Given the description of an element on the screen output the (x, y) to click on. 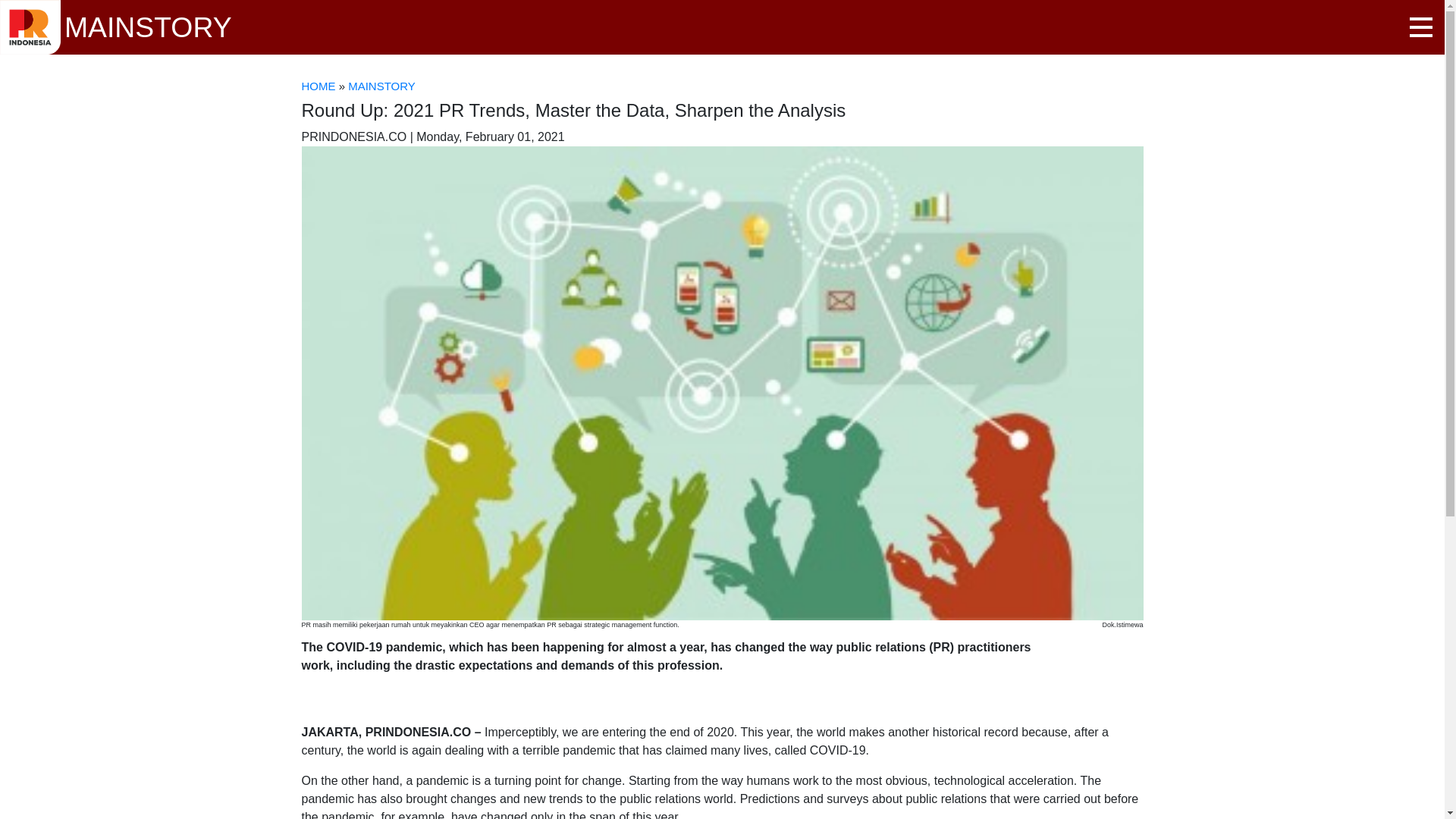
Menu (1420, 26)
HOME (318, 85)
MAINSTORY (380, 85)
